Given the description of an element on the screen output the (x, y) to click on. 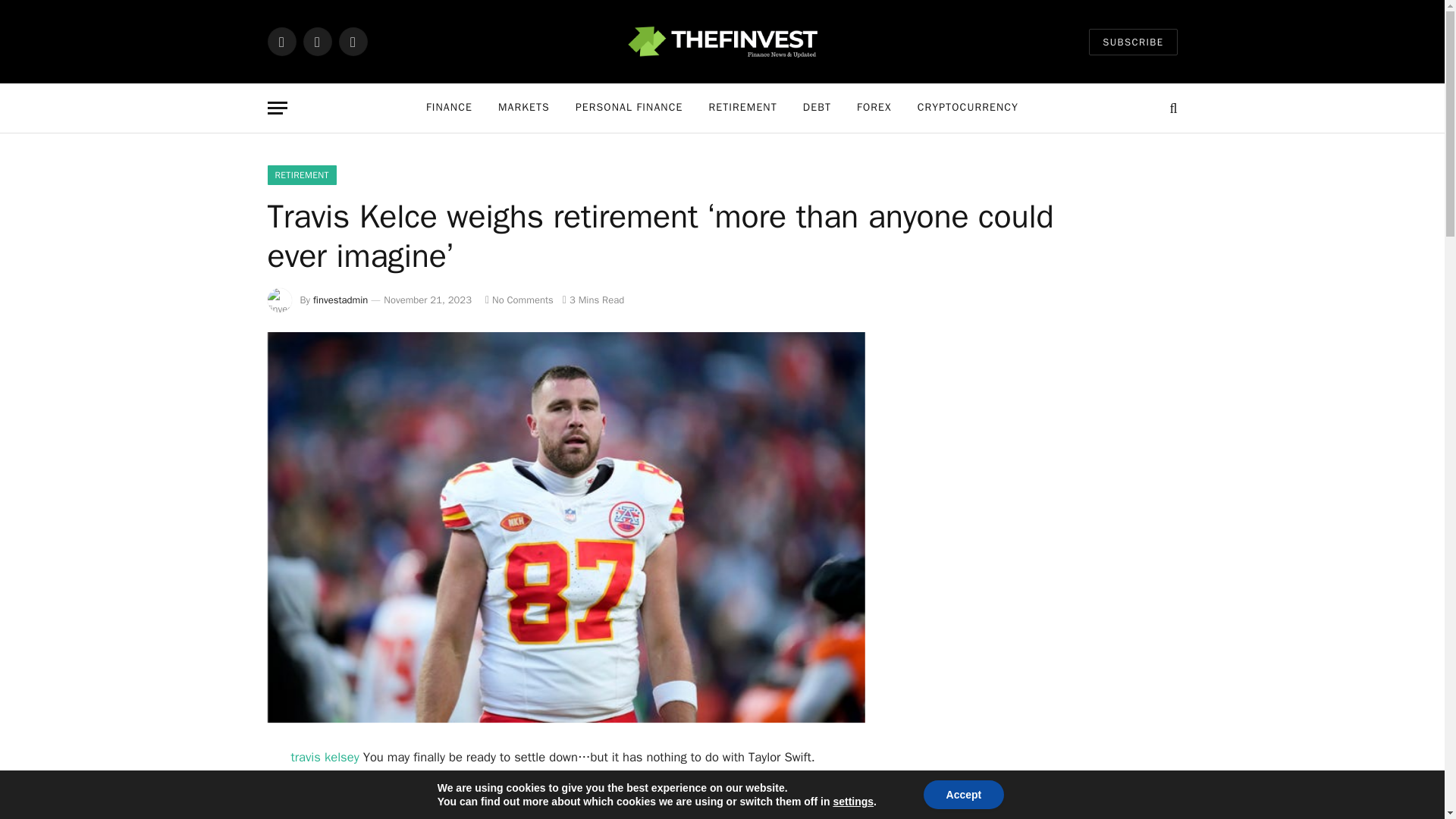
Instagram (351, 41)
Posts by finvestadmin (340, 298)
DEBT (817, 107)
The Finvest (721, 41)
CRYPTOCURRENCY (967, 107)
RETIREMENT (301, 175)
wall street journal (558, 815)
FINANCE (448, 107)
No Comments (518, 298)
SUBSCRIBE (1132, 41)
